Given the description of an element on the screen output the (x, y) to click on. 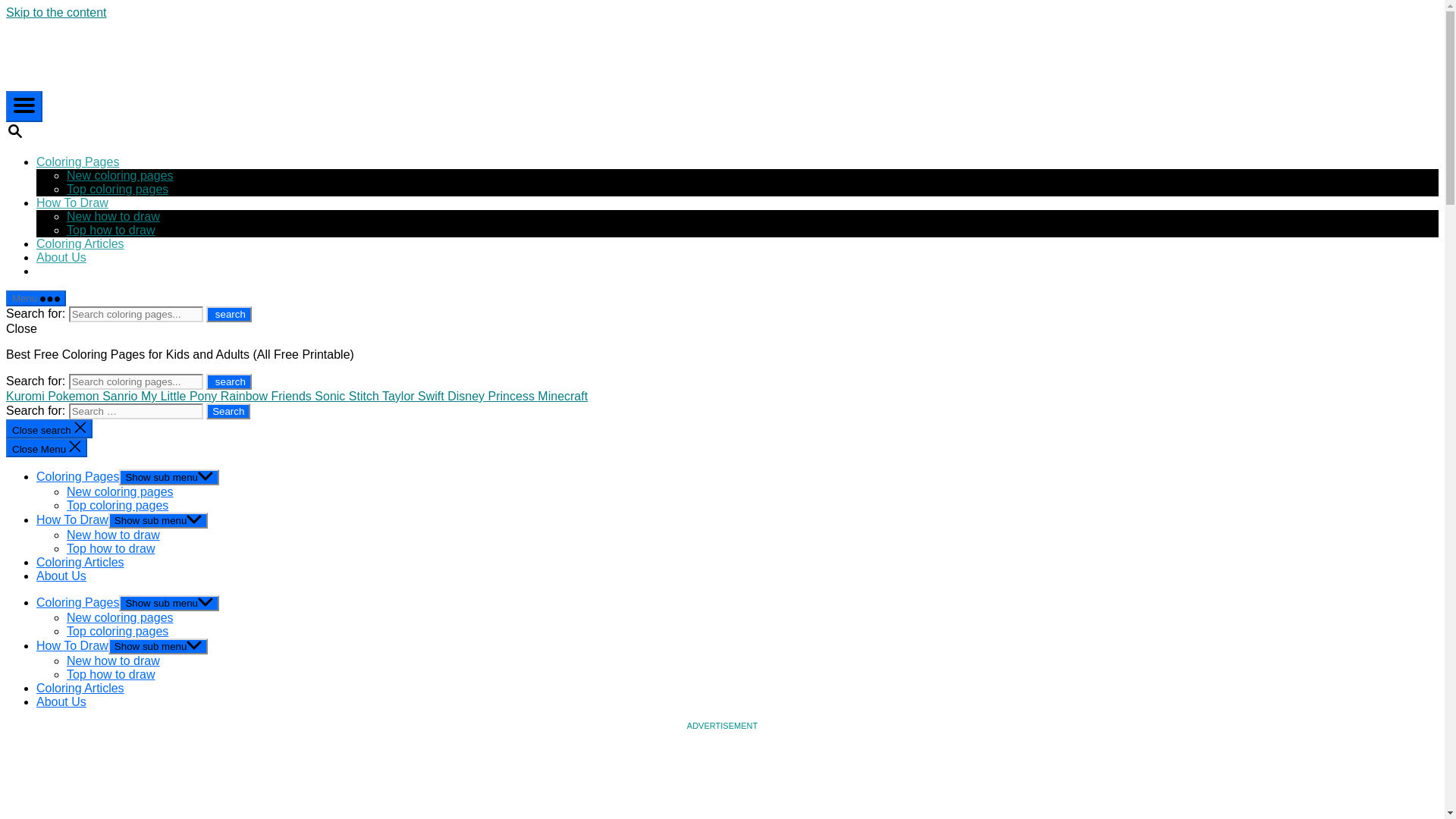
Taylor Swift (413, 395)
Show sub menu (169, 602)
How To Draw (71, 202)
Sonic Coloring Pages (330, 395)
New how to draw (113, 215)
New how to draw (113, 534)
Sanrio Coloring Pages (121, 395)
Coloring Pages (77, 476)
Search (228, 411)
Stitch (365, 395)
My Little Pony (181, 395)
New coloring pages (119, 491)
Show sub menu (157, 520)
New coloring pages (119, 617)
